Given the description of an element on the screen output the (x, y) to click on. 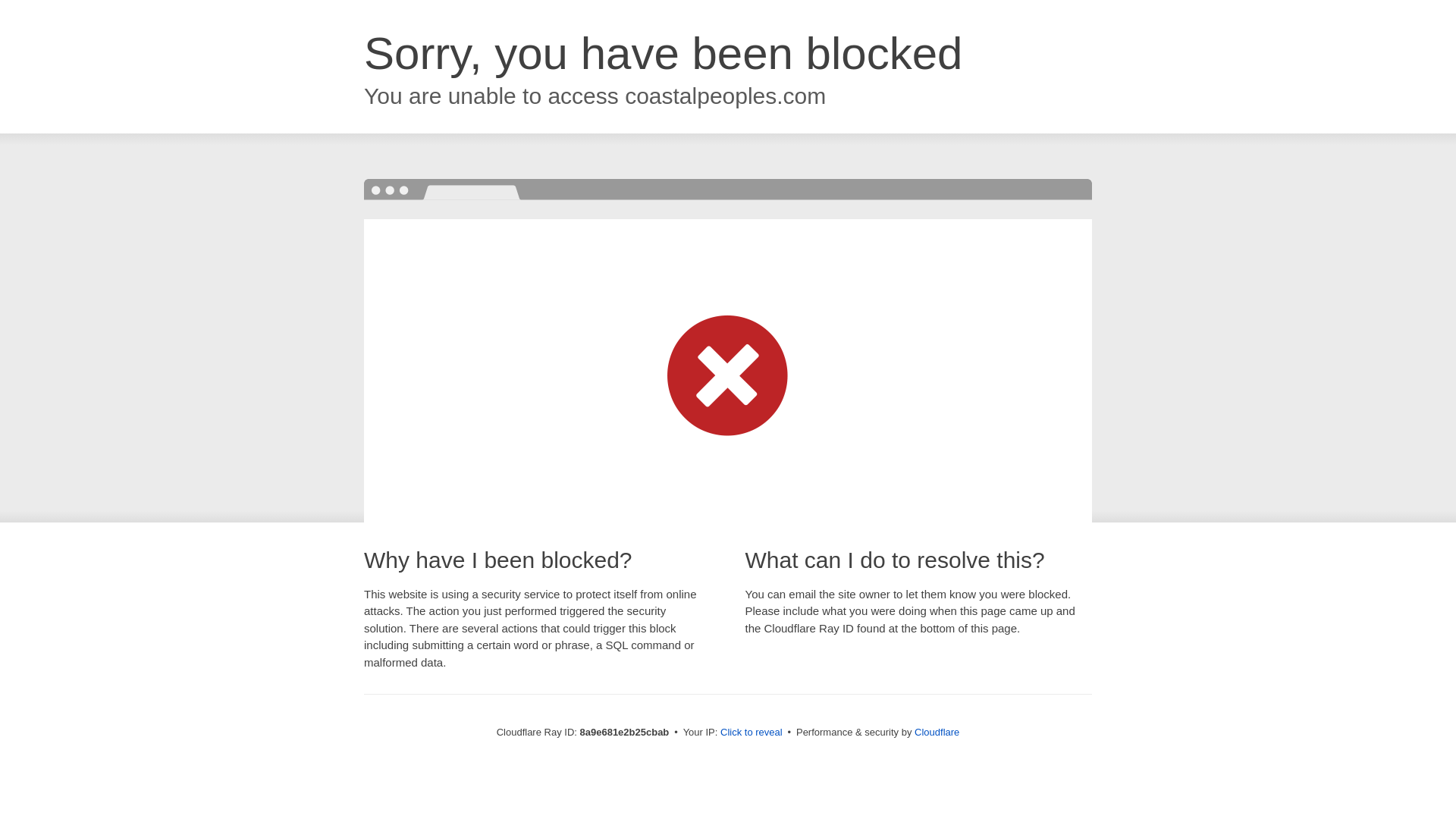
Click to reveal (751, 732)
Cloudflare (936, 731)
